Given the description of an element on the screen output the (x, y) to click on. 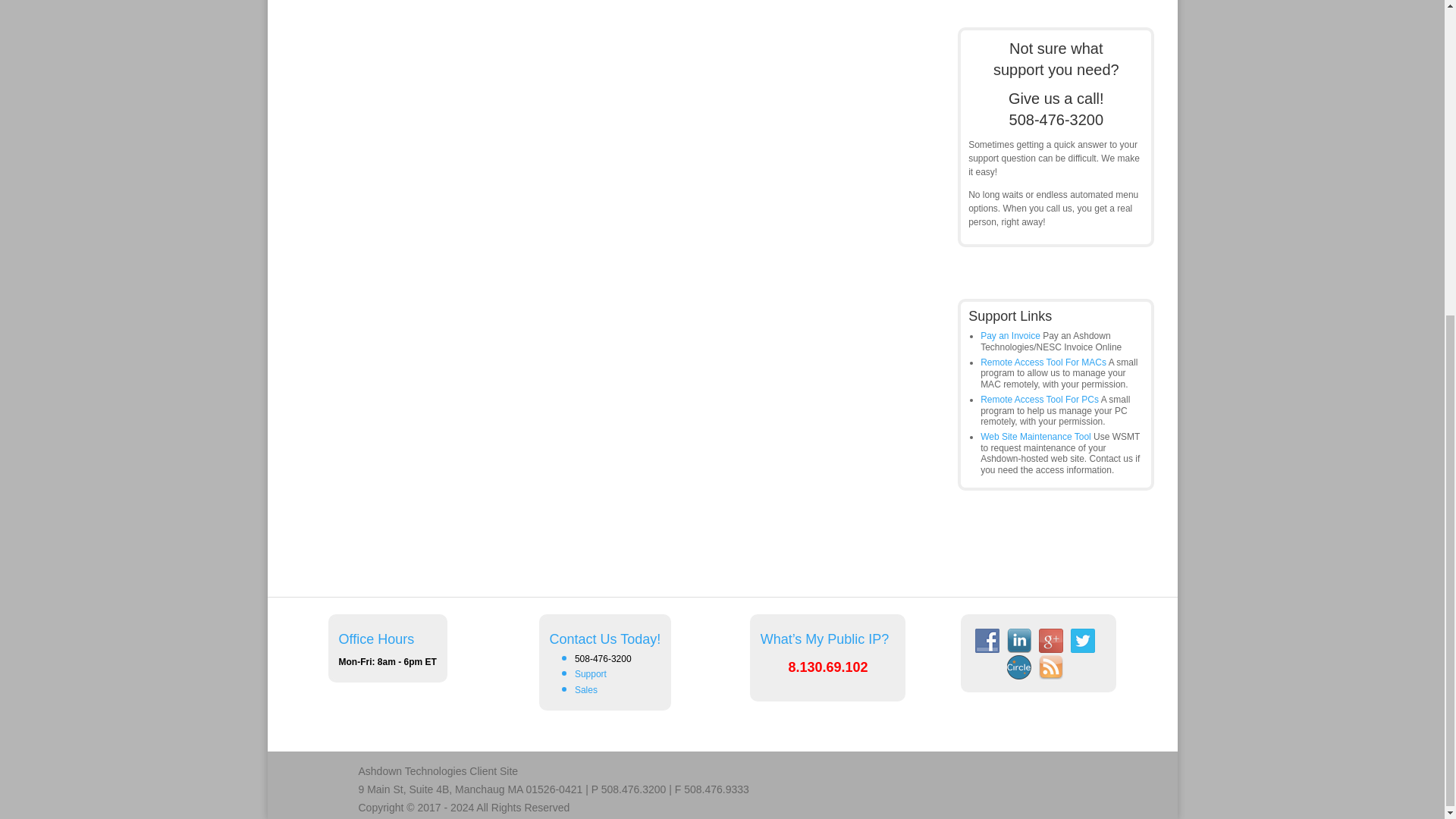
 Merchant Circle (1018, 667)
 LinkedIn (1018, 640)
 Twitter (1082, 640)
 Facebook (986, 640)
